Given the description of an element on the screen output the (x, y) to click on. 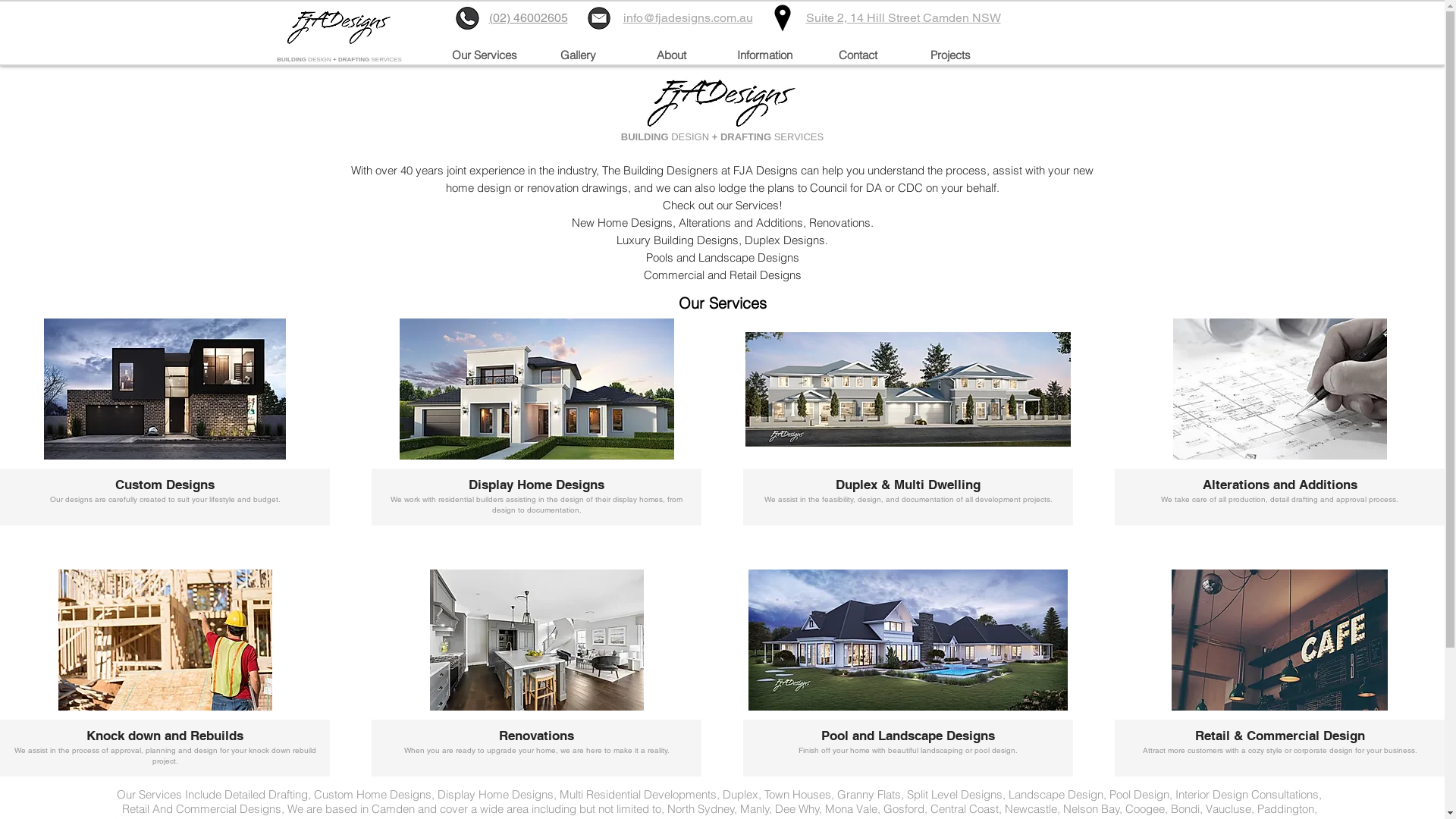
(02) 46002605 Element type: text (527, 18)
Contact Element type: text (857, 54)
+ DRAFTING Element type: text (743, 136)
Projects Element type: text (949, 54)
SERVICES Element type: text (799, 136)
BUILDING Element type: text (646, 136)
Gallery Element type: text (577, 54)
SERVICES Element type: text (385, 59)
Our Services Element type: text (484, 54)
Suite 2, 14 Hill Street Camden NSW Element type: text (902, 18)
DESIGN  Element type: text (691, 136)
Information Element type: text (763, 54)
+ DRAFTING Element type: text (351, 59)
About Element type: text (671, 54)
info@fjadesigns.com.au Element type: text (688, 18)
BUILDING Element type: text (291, 59)
DESIGN  Element type: text (319, 59)
